Given the description of an element on the screen output the (x, y) to click on. 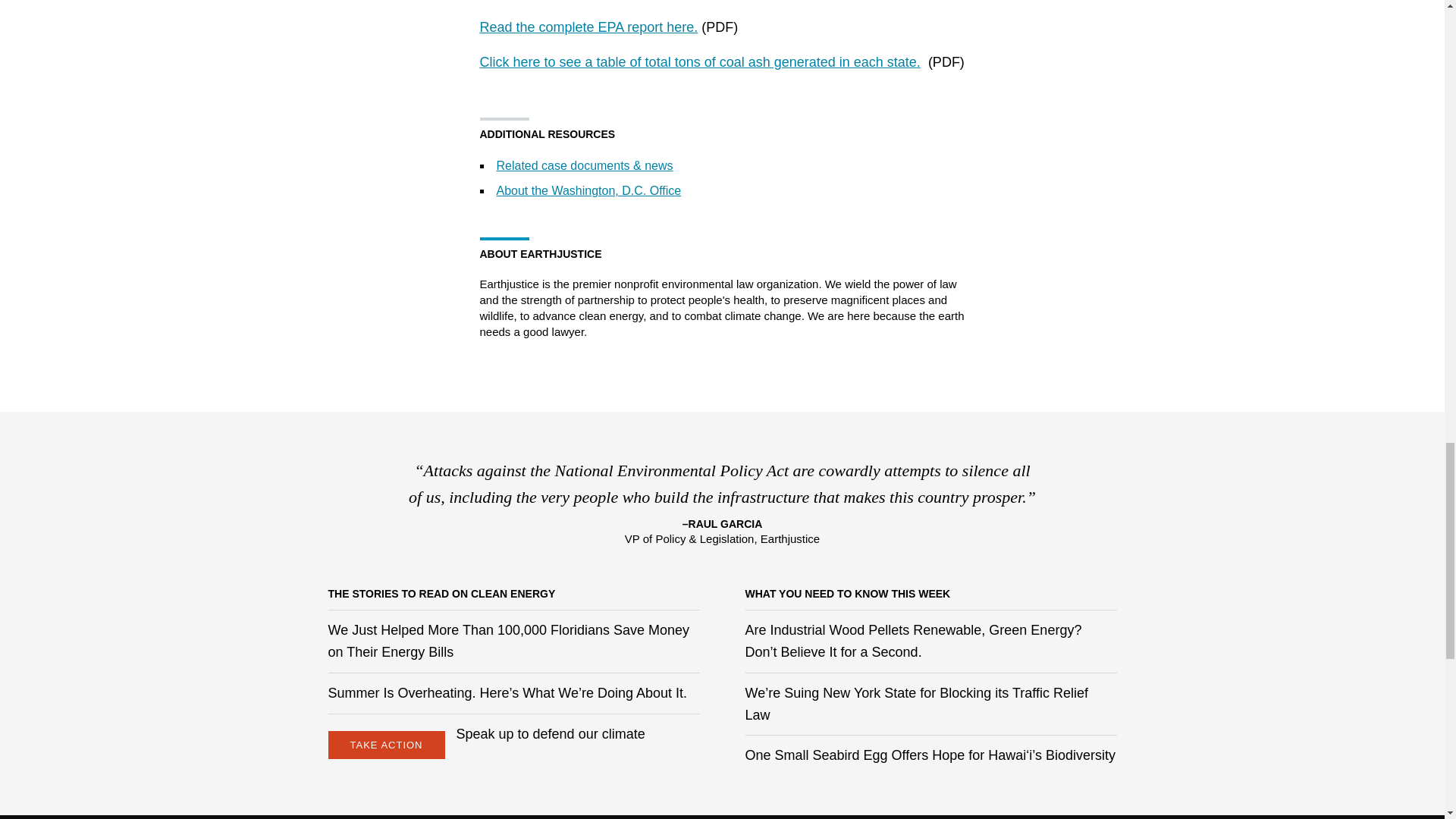
Washington, D.C. Office (588, 190)
Speak up to defend our climate (551, 734)
